Given the description of an element on the screen output the (x, y) to click on. 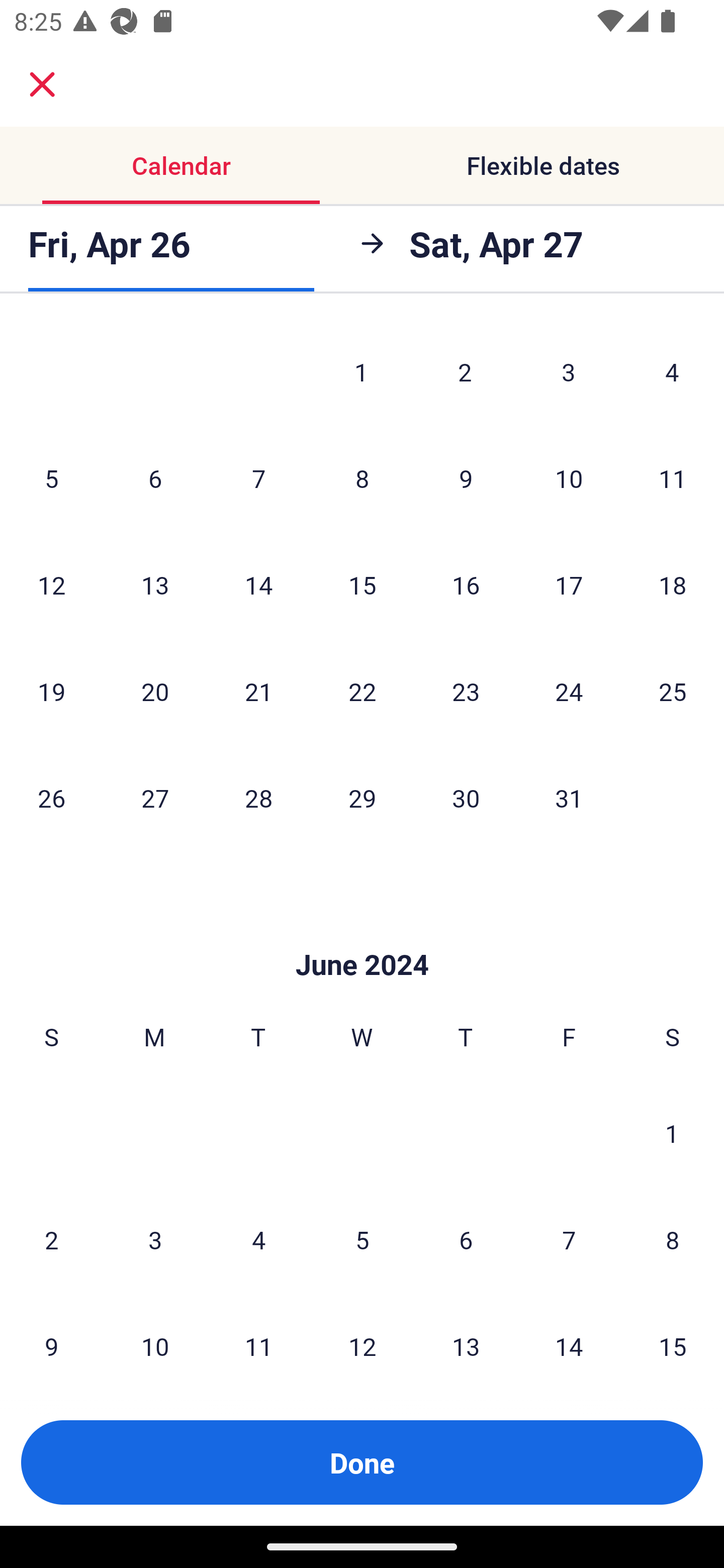
close. (42, 84)
Flexible dates (542, 164)
1 Wednesday, May 1, 2024 (361, 372)
2 Thursday, May 2, 2024 (464, 372)
3 Friday, May 3, 2024 (568, 372)
4 Saturday, May 4, 2024 (672, 372)
5 Sunday, May 5, 2024 (51, 477)
6 Monday, May 6, 2024 (155, 477)
7 Tuesday, May 7, 2024 (258, 477)
8 Wednesday, May 8, 2024 (362, 477)
9 Thursday, May 9, 2024 (465, 477)
10 Friday, May 10, 2024 (569, 477)
11 Saturday, May 11, 2024 (672, 477)
12 Sunday, May 12, 2024 (51, 584)
13 Monday, May 13, 2024 (155, 584)
14 Tuesday, May 14, 2024 (258, 584)
15 Wednesday, May 15, 2024 (362, 584)
16 Thursday, May 16, 2024 (465, 584)
17 Friday, May 17, 2024 (569, 584)
18 Saturday, May 18, 2024 (672, 584)
19 Sunday, May 19, 2024 (51, 691)
20 Monday, May 20, 2024 (155, 691)
21 Tuesday, May 21, 2024 (258, 691)
22 Wednesday, May 22, 2024 (362, 691)
23 Thursday, May 23, 2024 (465, 691)
24 Friday, May 24, 2024 (569, 691)
25 Saturday, May 25, 2024 (672, 691)
26 Sunday, May 26, 2024 (51, 797)
27 Monday, May 27, 2024 (155, 797)
28 Tuesday, May 28, 2024 (258, 797)
29 Wednesday, May 29, 2024 (362, 797)
30 Thursday, May 30, 2024 (465, 797)
31 Friday, May 31, 2024 (569, 797)
Skip to Done (362, 934)
1 Saturday, June 1, 2024 (672, 1132)
2 Sunday, June 2, 2024 (51, 1239)
3 Monday, June 3, 2024 (155, 1239)
4 Tuesday, June 4, 2024 (258, 1239)
5 Wednesday, June 5, 2024 (362, 1239)
6 Thursday, June 6, 2024 (465, 1239)
7 Friday, June 7, 2024 (569, 1239)
8 Saturday, June 8, 2024 (672, 1239)
9 Sunday, June 9, 2024 (51, 1336)
10 Monday, June 10, 2024 (155, 1336)
11 Tuesday, June 11, 2024 (258, 1336)
12 Wednesday, June 12, 2024 (362, 1336)
13 Thursday, June 13, 2024 (465, 1336)
14 Friday, June 14, 2024 (569, 1336)
15 Saturday, June 15, 2024 (672, 1336)
Done (361, 1462)
